Given the description of an element on the screen output the (x, y) to click on. 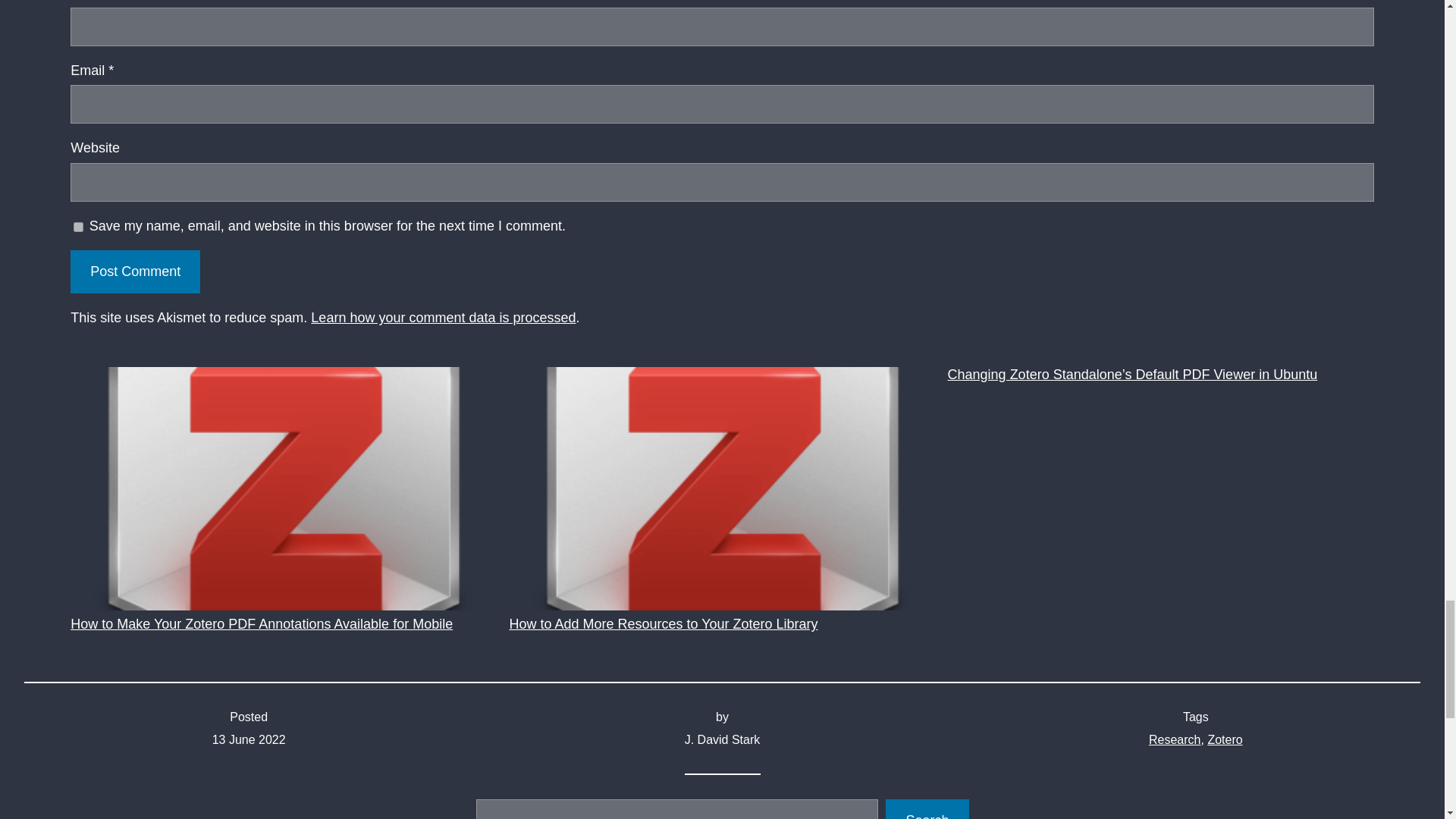
How to Add More Resources to Your Zotero Library (721, 499)
Search (926, 809)
Post Comment (134, 271)
Zotero (1224, 739)
Learn how your comment data is processed (443, 317)
How to Make Your Zotero PDF Annotations Available for Mobile (282, 499)
Post Comment (134, 271)
Research (1173, 739)
